Given the description of an element on the screen output the (x, y) to click on. 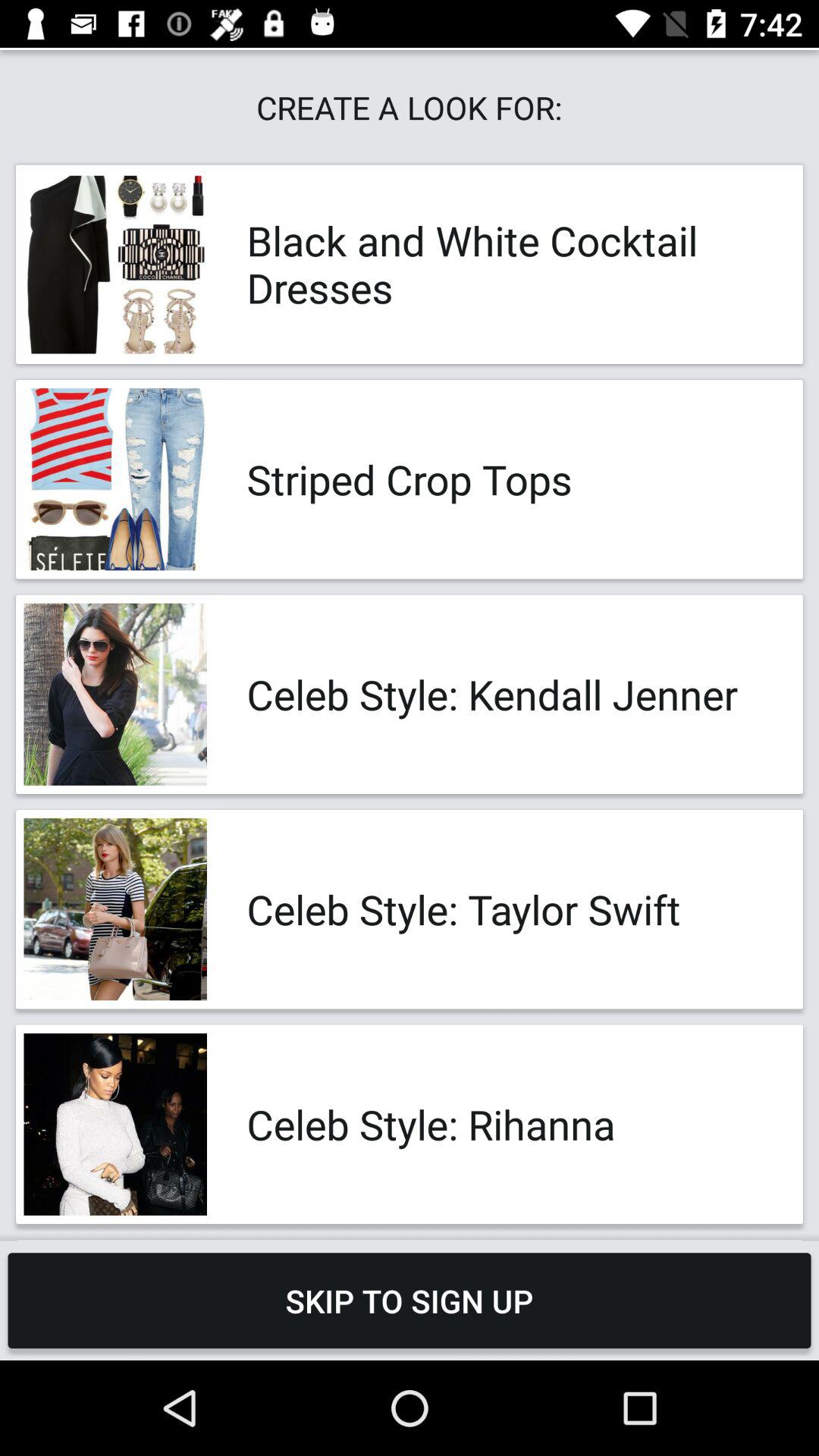
turn on the striped crop tops icon (508, 478)
